Given the description of an element on the screen output the (x, y) to click on. 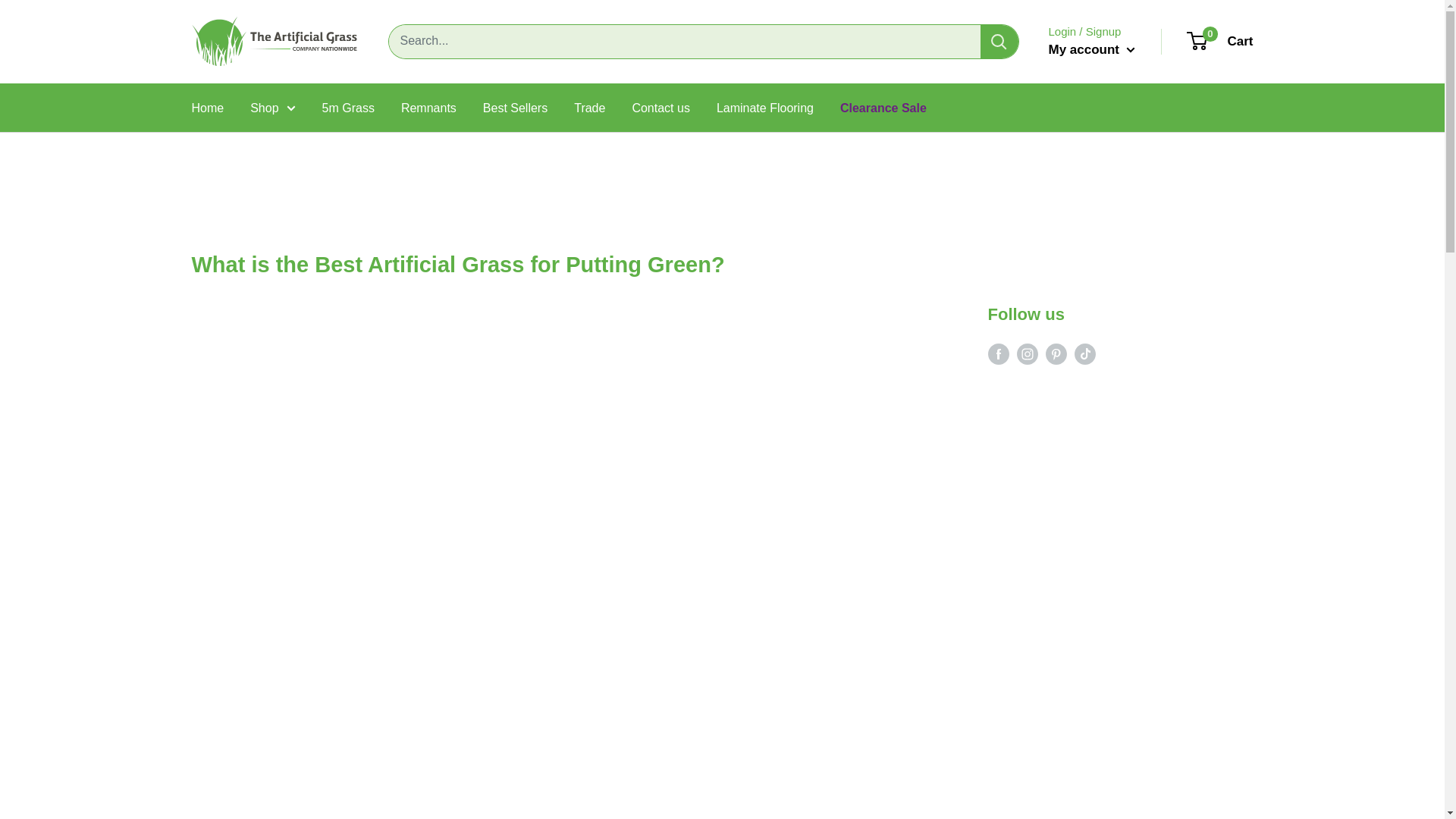
theartificialgrass.co.uk (1220, 41)
Shop (274, 41)
Home (272, 108)
My account (207, 108)
